Given the description of an element on the screen output the (x, y) to click on. 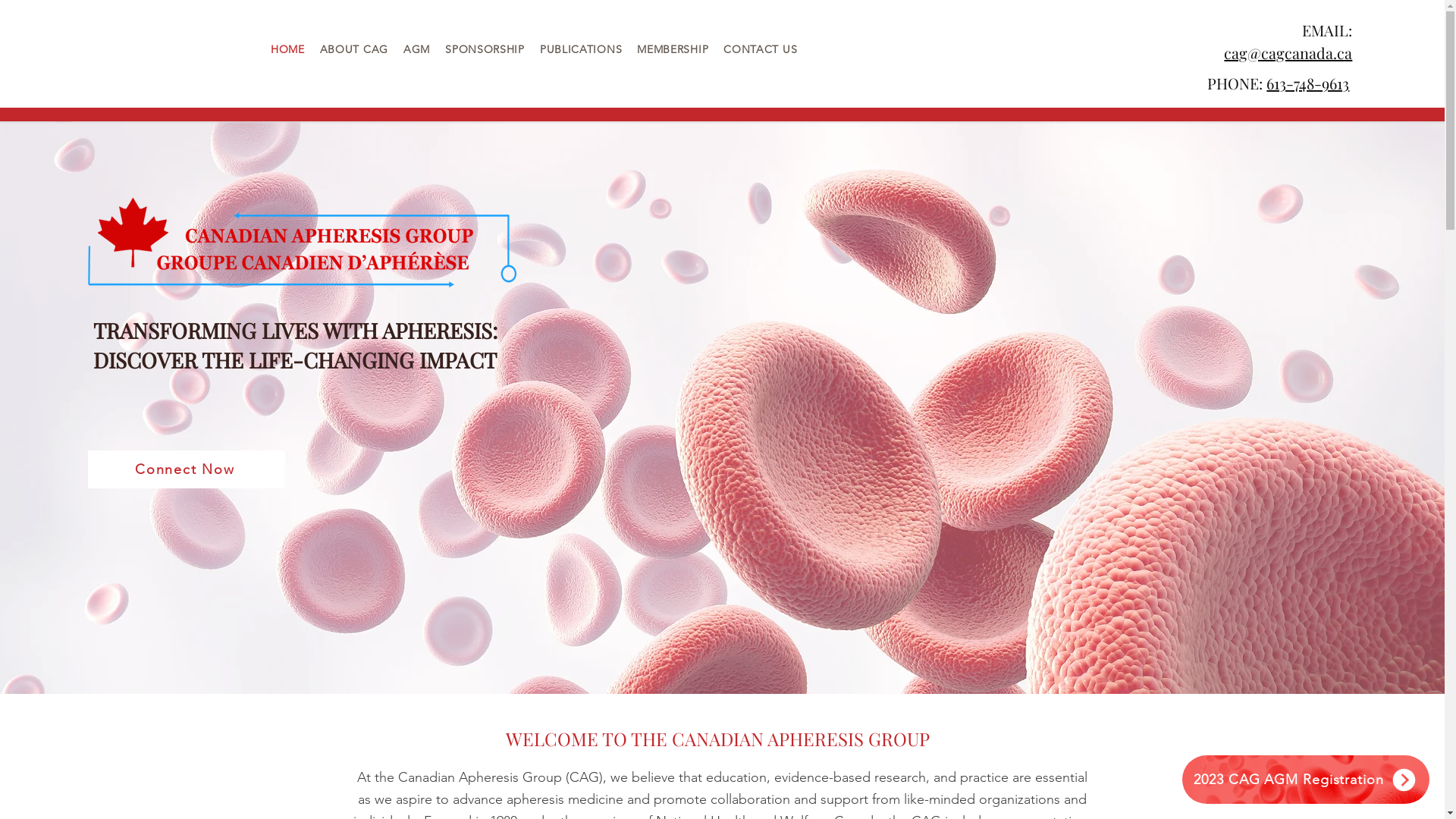
Connect Now Element type: text (186, 469)
ABOUT CAG Element type: text (353, 48)
cag@cagcanada.ca Element type: text (1287, 52)
HOME Element type: text (287, 48)
MEMBERSHIP Element type: text (672, 48)
SPONSORSHIP Element type: text (484, 48)
AGM Element type: text (416, 48)
EMAIL: Element type: text (1327, 29)
CONTACT US Element type: text (759, 48)
2023 CAG AGM Registration Element type: text (1305, 779)
